Given the description of an element on the screen output the (x, y) to click on. 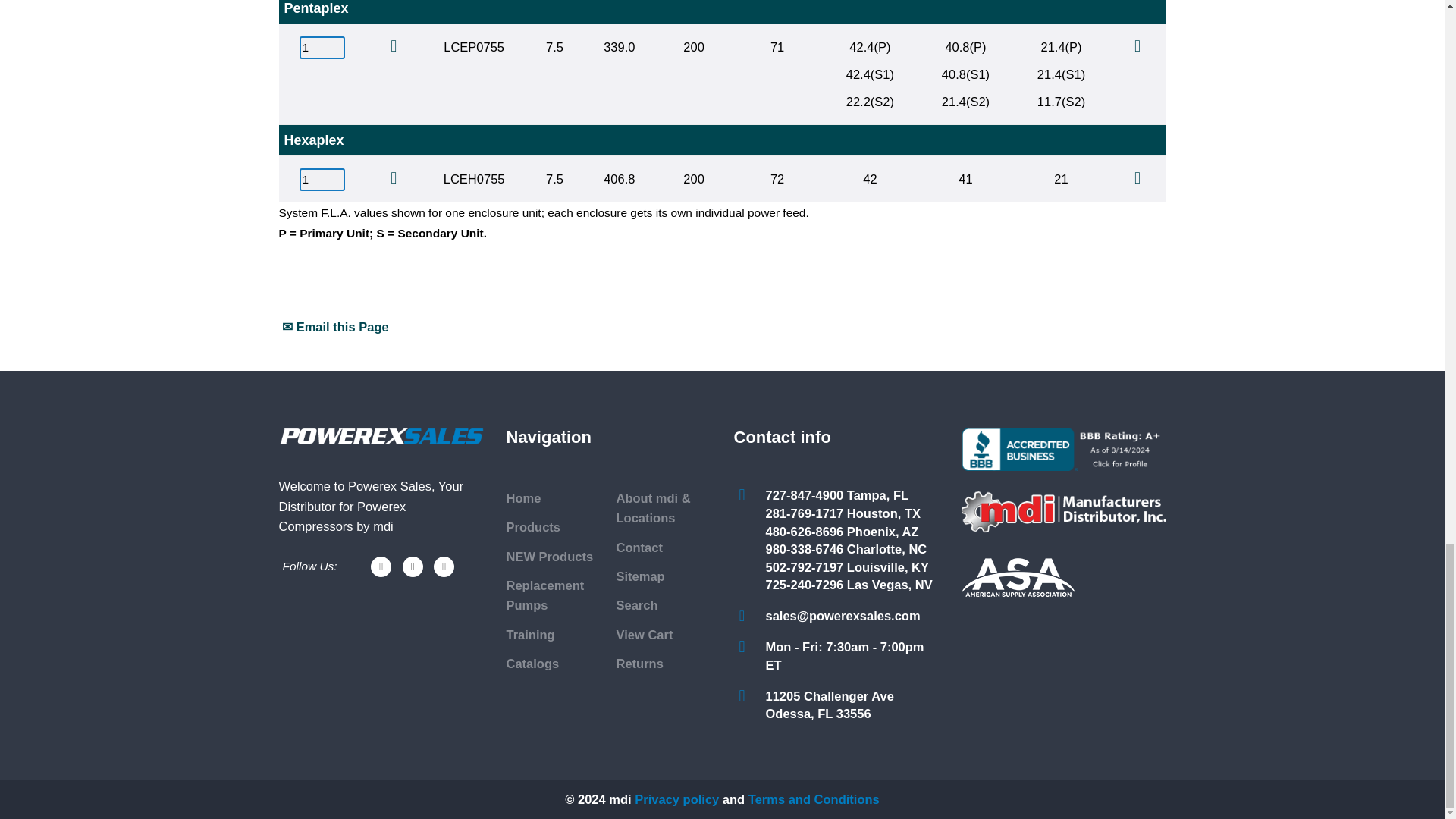
1 (322, 179)
American Supply Association (1017, 577)
1 (322, 47)
